Given the description of an element on the screen output the (x, y) to click on. 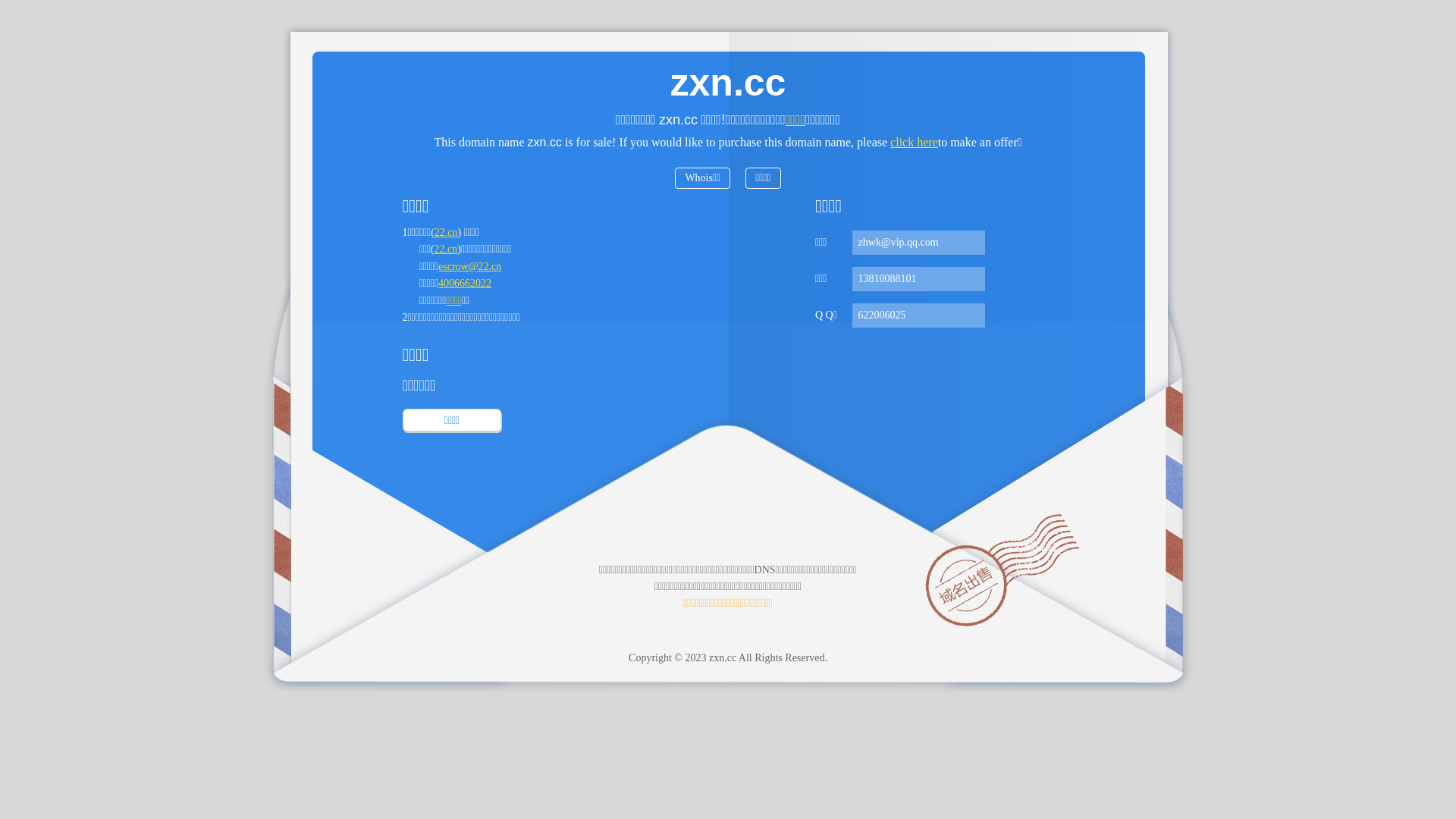
click here Element type: text (914, 141)
22.cn Element type: text (446, 248)
4006662022 Element type: text (464, 282)
escrow@22.cn Element type: text (469, 266)
22.cn Element type: text (446, 232)
